Given the description of an element on the screen output the (x, y) to click on. 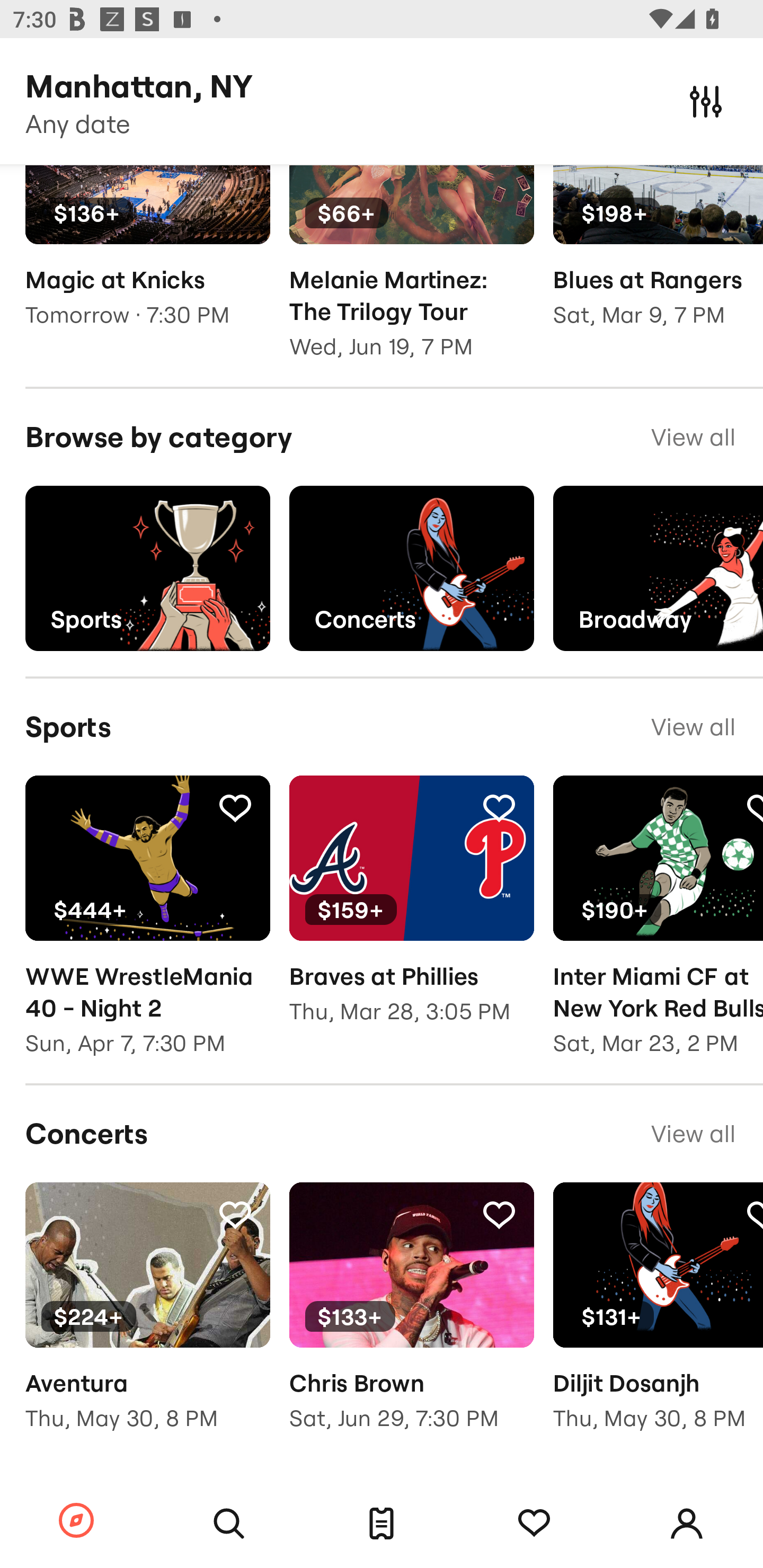
Filters (705, 100)
$136+ Magic at Knicks Tomorrow · 7:30 PM (147, 259)
$198+ Blues at Rangers Sat, Mar 9, 7 PM (658, 259)
View all (693, 437)
Sports (147, 568)
Concerts (411, 568)
Broadway (658, 568)
View all (693, 727)
Tracking (234, 807)
Tracking (498, 807)
View all (693, 1133)
Tracking $224+ Aventura Thu, May 30, 8 PM (147, 1319)
Tracking $133+ Chris Brown Sat, Jun 29, 7:30 PM (411, 1319)
Tracking $131+ Diljit Dosanjh Thu, May 30, 8 PM (658, 1319)
Tracking (234, 1213)
Tracking (498, 1213)
Browse (76, 1521)
Search (228, 1523)
Tickets (381, 1523)
Tracking (533, 1523)
Account (686, 1523)
